Given the description of an element on the screen output the (x, y) to click on. 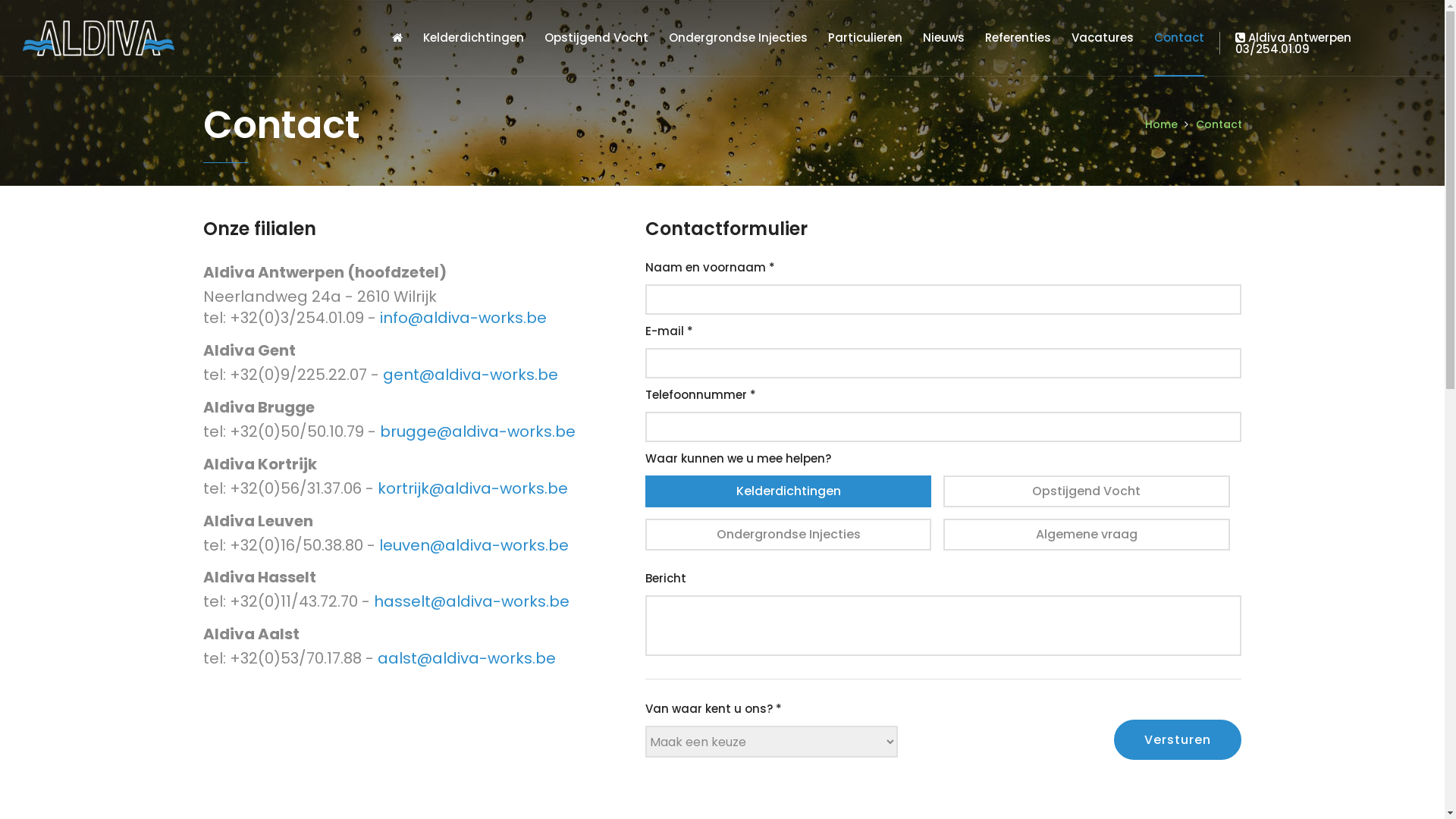
info@aldiva-works.be Element type: text (462, 317)
Vacatures Element type: text (1102, 37)
Aldiva Antwerpen 03/254.01.09 Element type: text (1320, 42)
Contact Element type: text (1179, 37)
hasselt@aldiva-works.be Element type: text (470, 600)
Versturen Element type: text (1177, 739)
brugge@aldiva-works.be Element type: text (476, 431)
Nieuws Element type: text (943, 37)
Ondergrondse Injecties Element type: text (737, 37)
Referenties Element type: text (1018, 37)
Home Element type: text (1161, 123)
leuven@aldiva-works.be Element type: text (473, 544)
Kelderdichtingen Element type: text (473, 37)
Contact Element type: text (1218, 123)
kortrijk@aldiva-works.be Element type: text (472, 487)
aalst@aldiva-works.be Element type: text (466, 657)
Particulieren Element type: text (865, 37)
Opstijgend Vocht Element type: text (596, 37)
gent@aldiva-works.be Element type: text (469, 374)
